Given the description of an element on the screen output the (x, y) to click on. 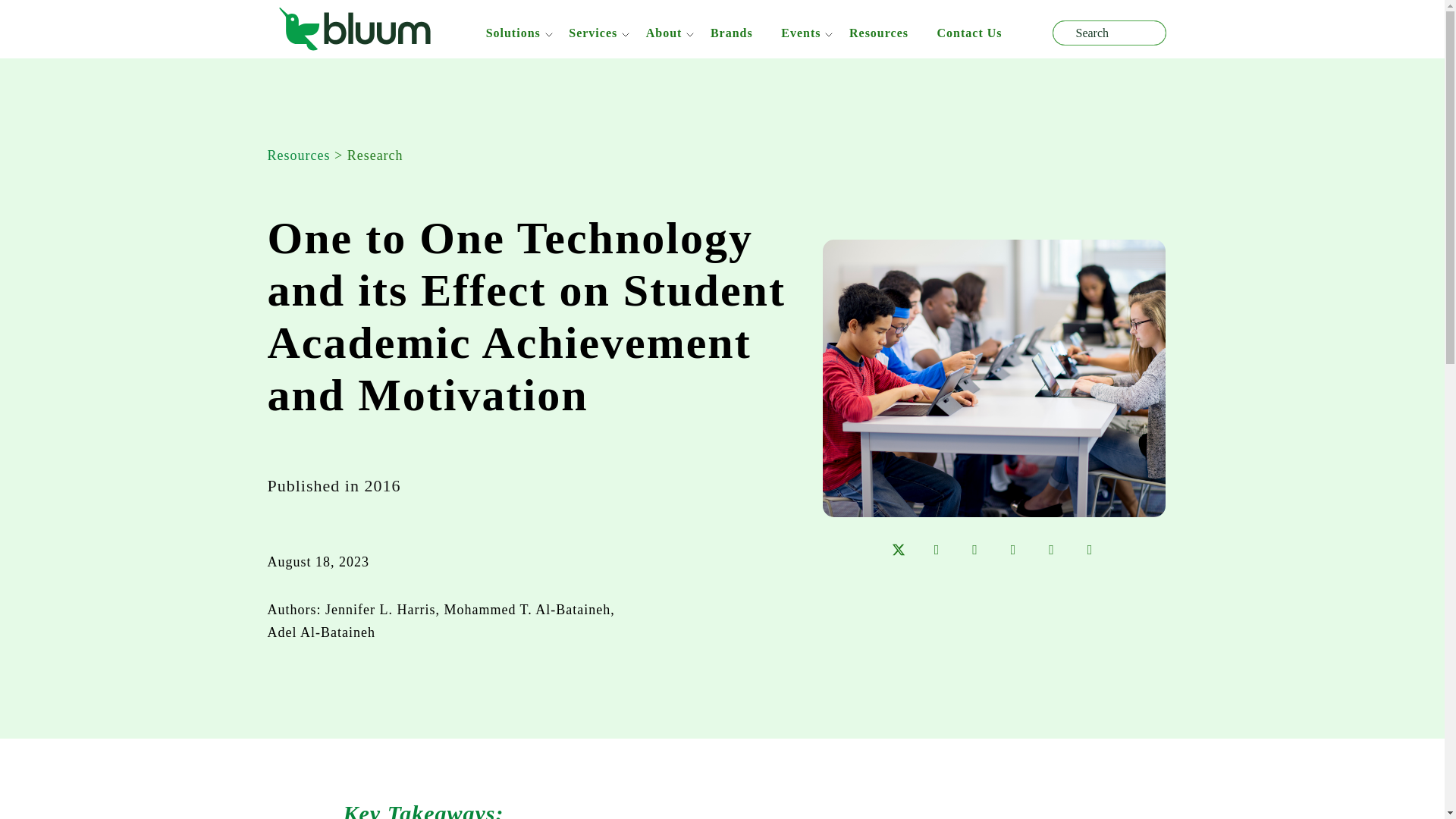
Group 2704 (354, 28)
Share on LinkedIn (936, 549)
Tweet (898, 549)
Brands (731, 32)
Events (800, 32)
Share on Facebook (974, 549)
Share on Email (1013, 549)
About (664, 32)
Services (593, 32)
Solutions (513, 32)
